Given the description of an element on the screen output the (x, y) to click on. 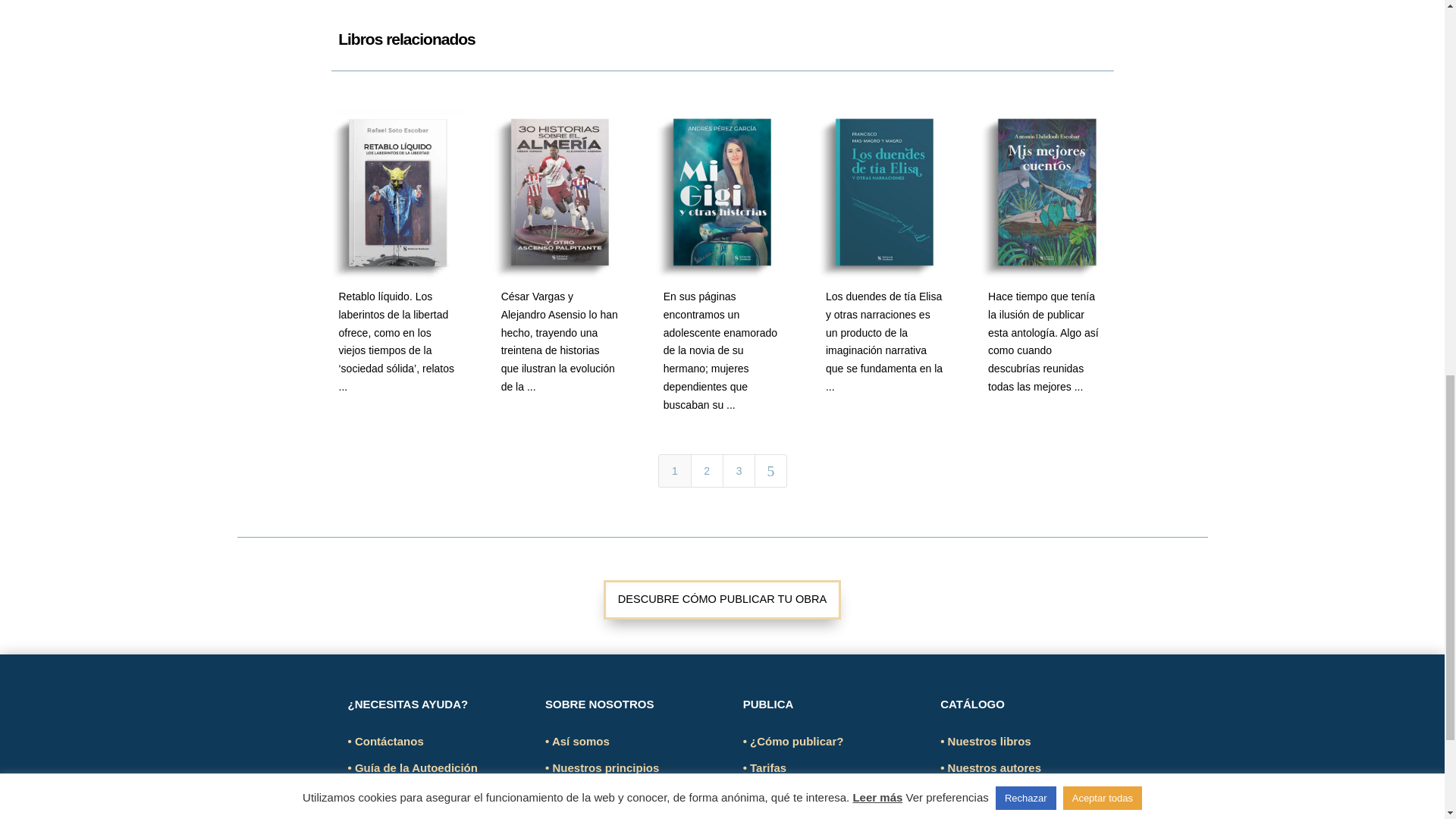
2 (706, 470)
Nuestros Libros (985, 740)
3 (738, 470)
Tarifas (764, 767)
Vende tu libro (783, 816)
1 (674, 470)
Promociona tu libro (799, 793)
Nuestros Autores (990, 767)
